Given the description of an element on the screen output the (x, y) to click on. 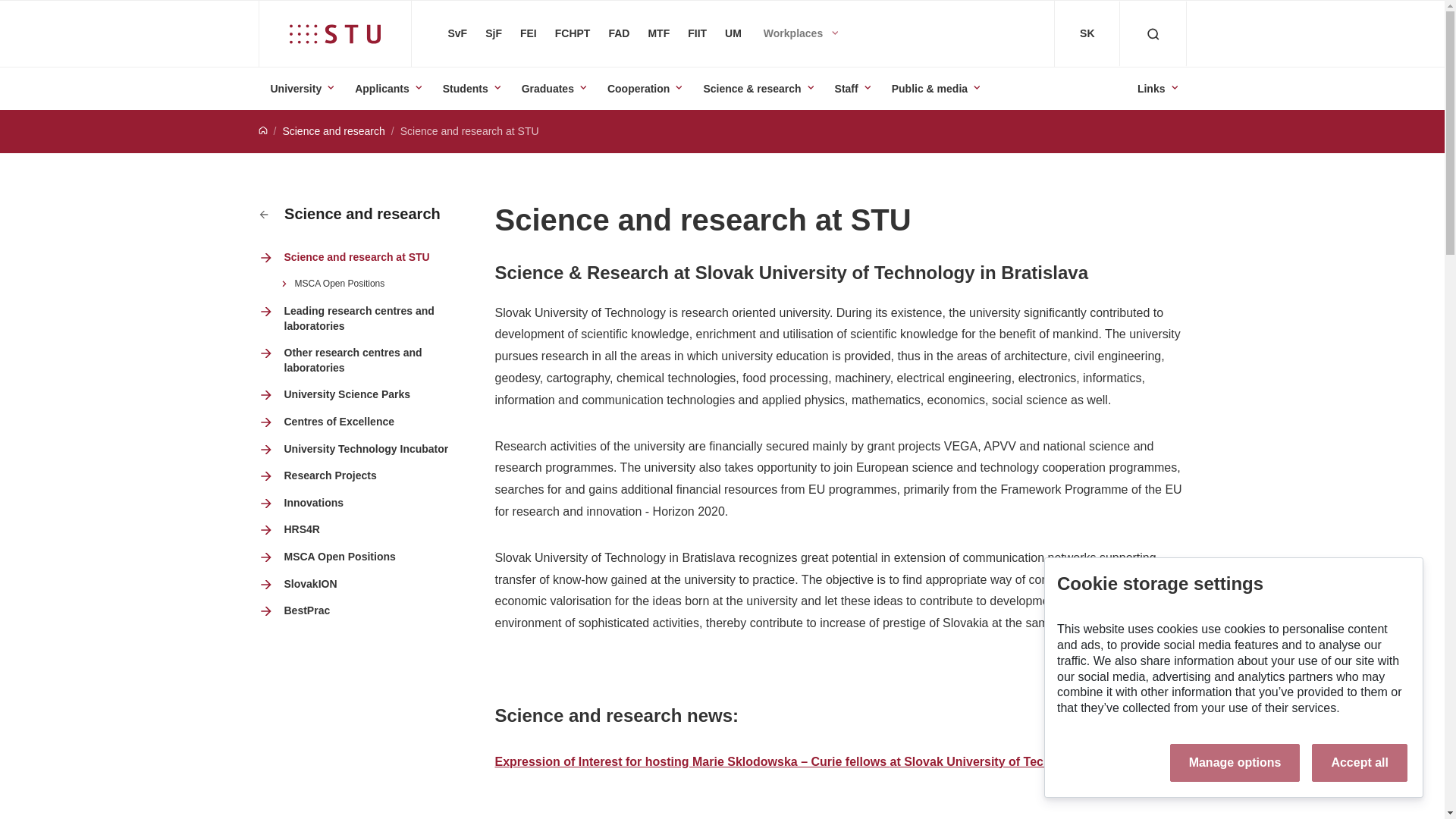
University (301, 88)
Faculty of Informatics and Information Technologies (697, 32)
SjF (493, 32)
Jump to content (11, 7)
Faculty of Electrical Engineering and Information Technology (528, 32)
FEI (528, 32)
FCHPT (572, 32)
Slovensky (1086, 33)
Faculty of Mechanical engineering (493, 32)
Faculty of Architecture and Design (618, 32)
